Given the description of an element on the screen output the (x, y) to click on. 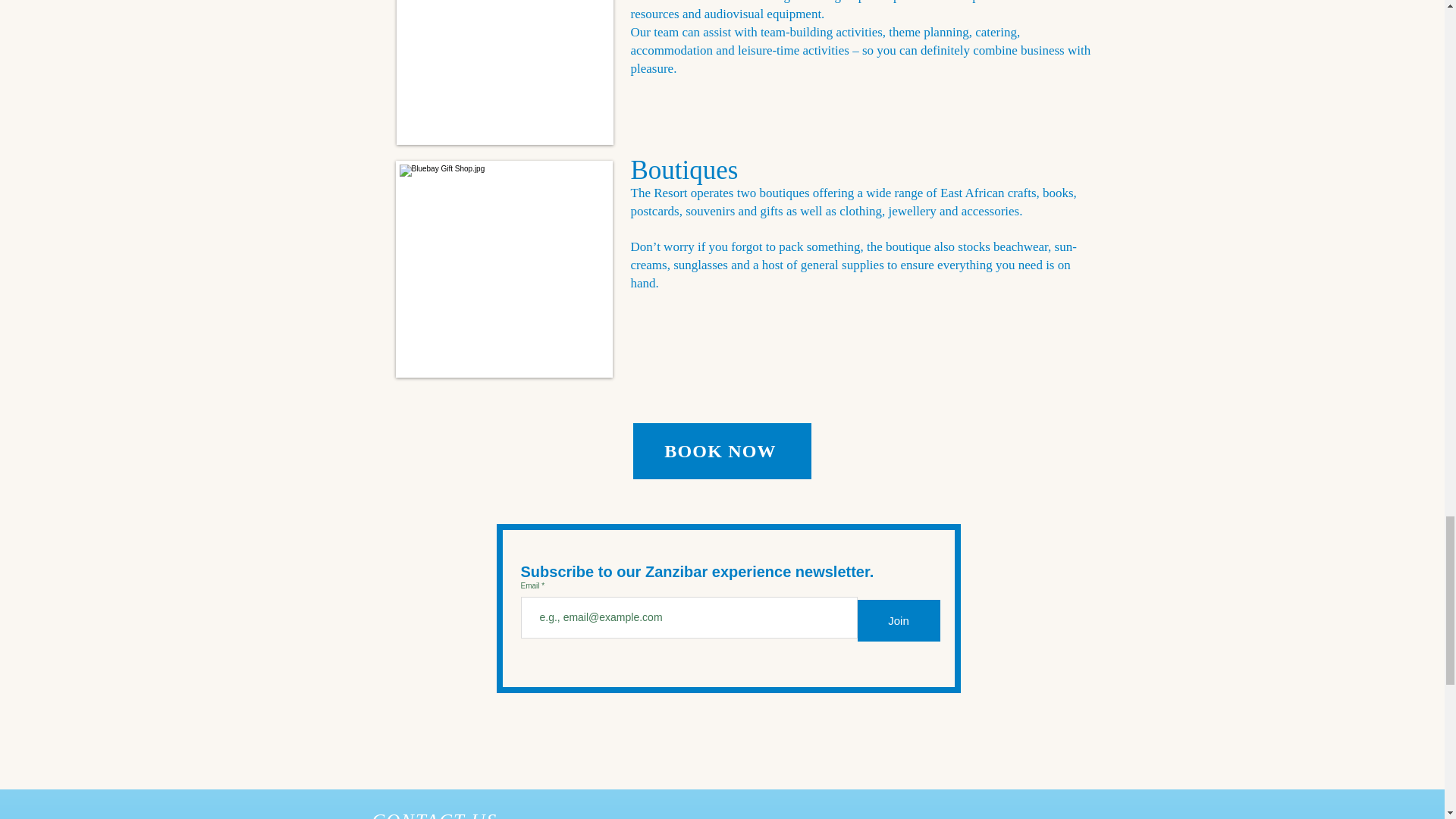
Join (898, 620)
BOOK NOW (720, 451)
